Given the description of an element on the screen output the (x, y) to click on. 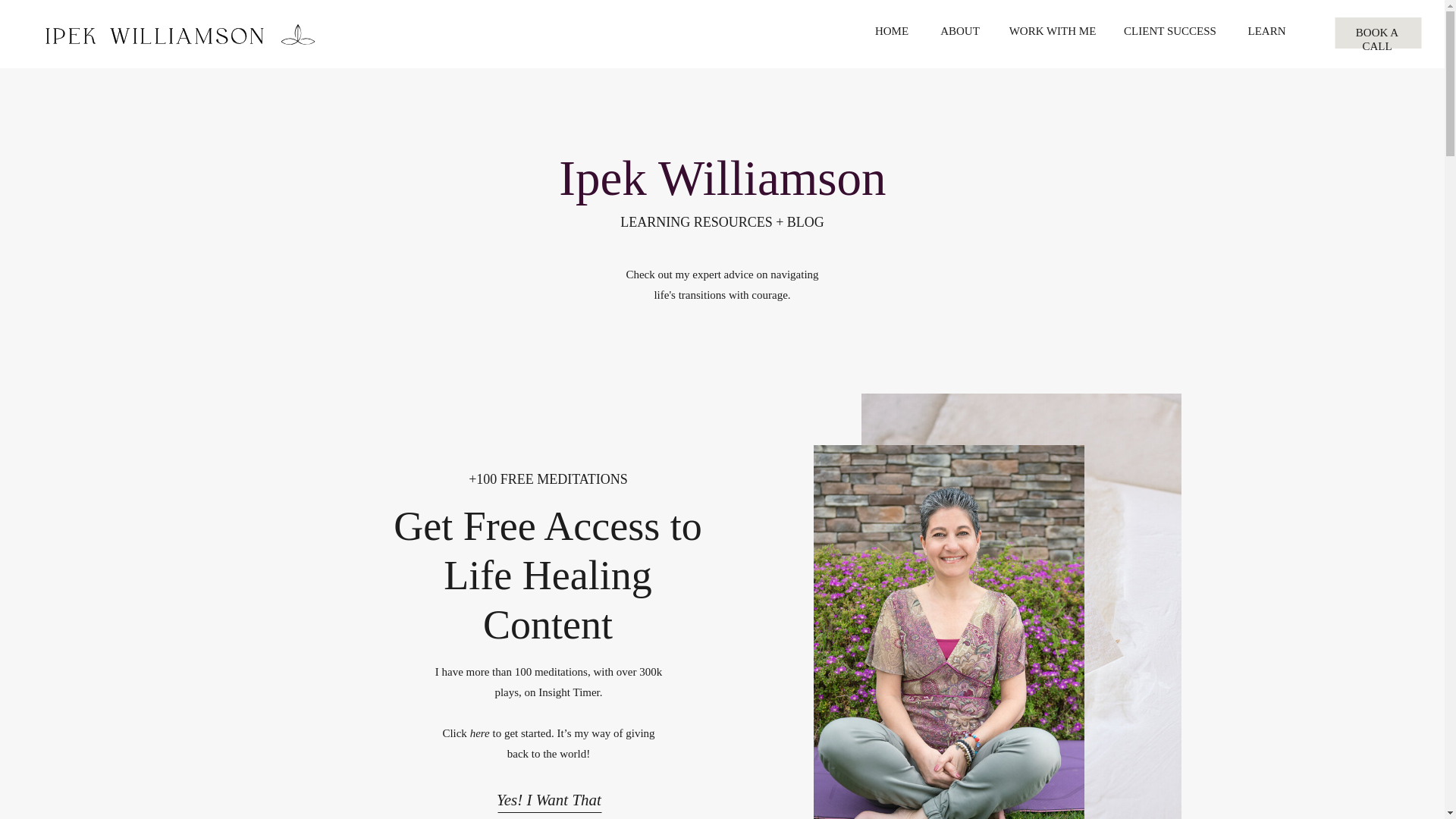
CLIENT SUCCESS (1169, 32)
BOOK A CALL (1376, 34)
LEARN (1266, 32)
HOME (891, 32)
ABOUT (959, 32)
Ipek Williamson (721, 175)
Yes! I Want That (548, 795)
WORK WITH ME (1052, 32)
